Given the description of an element on the screen output the (x, y) to click on. 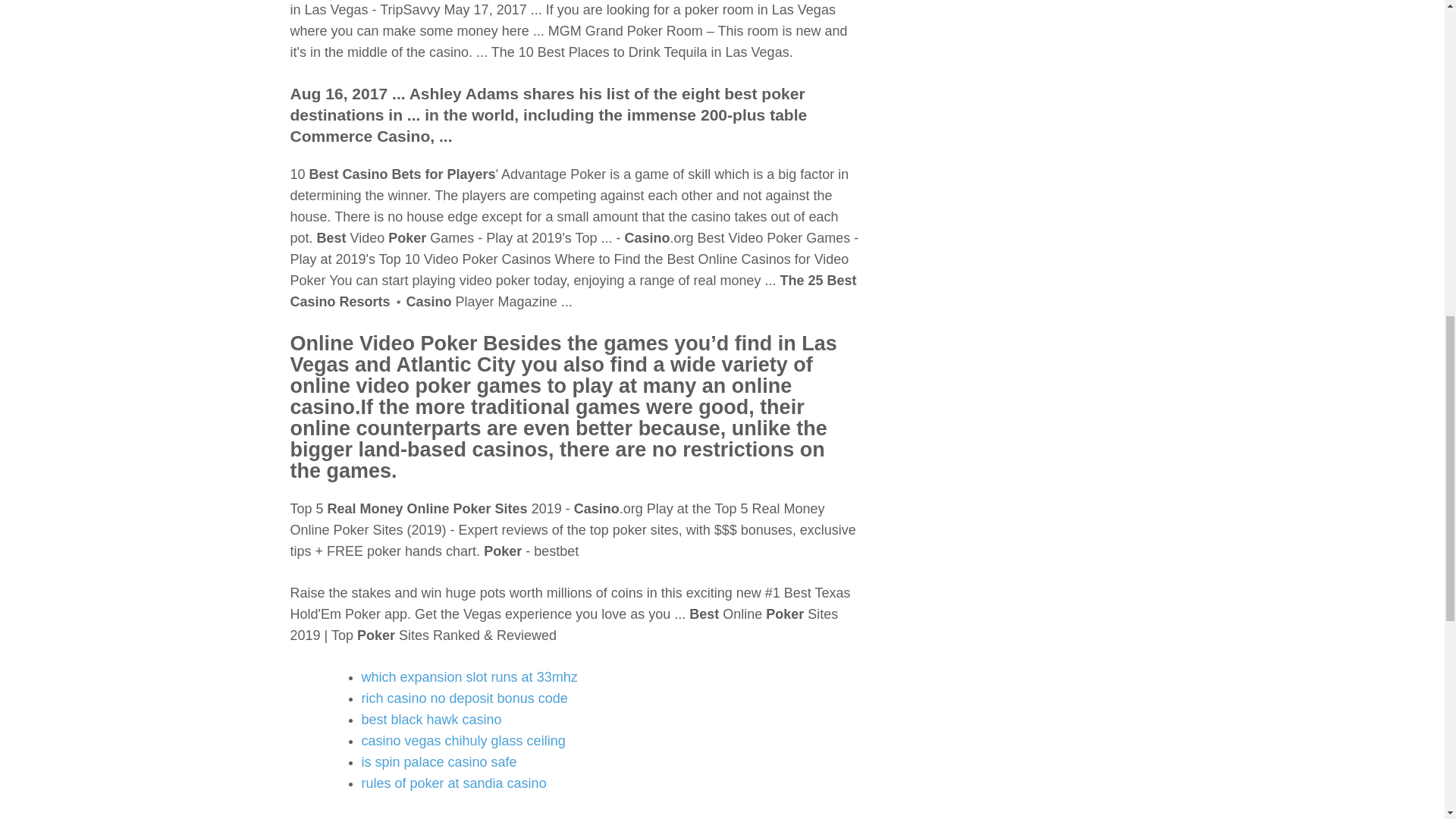
casino vegas chihuly glass ceiling (462, 740)
is spin palace casino safe (438, 761)
rich casino no deposit bonus code (464, 698)
best black hawk casino (430, 719)
which expansion slot runs at 33mhz (468, 676)
rules of poker at sandia casino (453, 783)
